Given the description of an element on the screen output the (x, y) to click on. 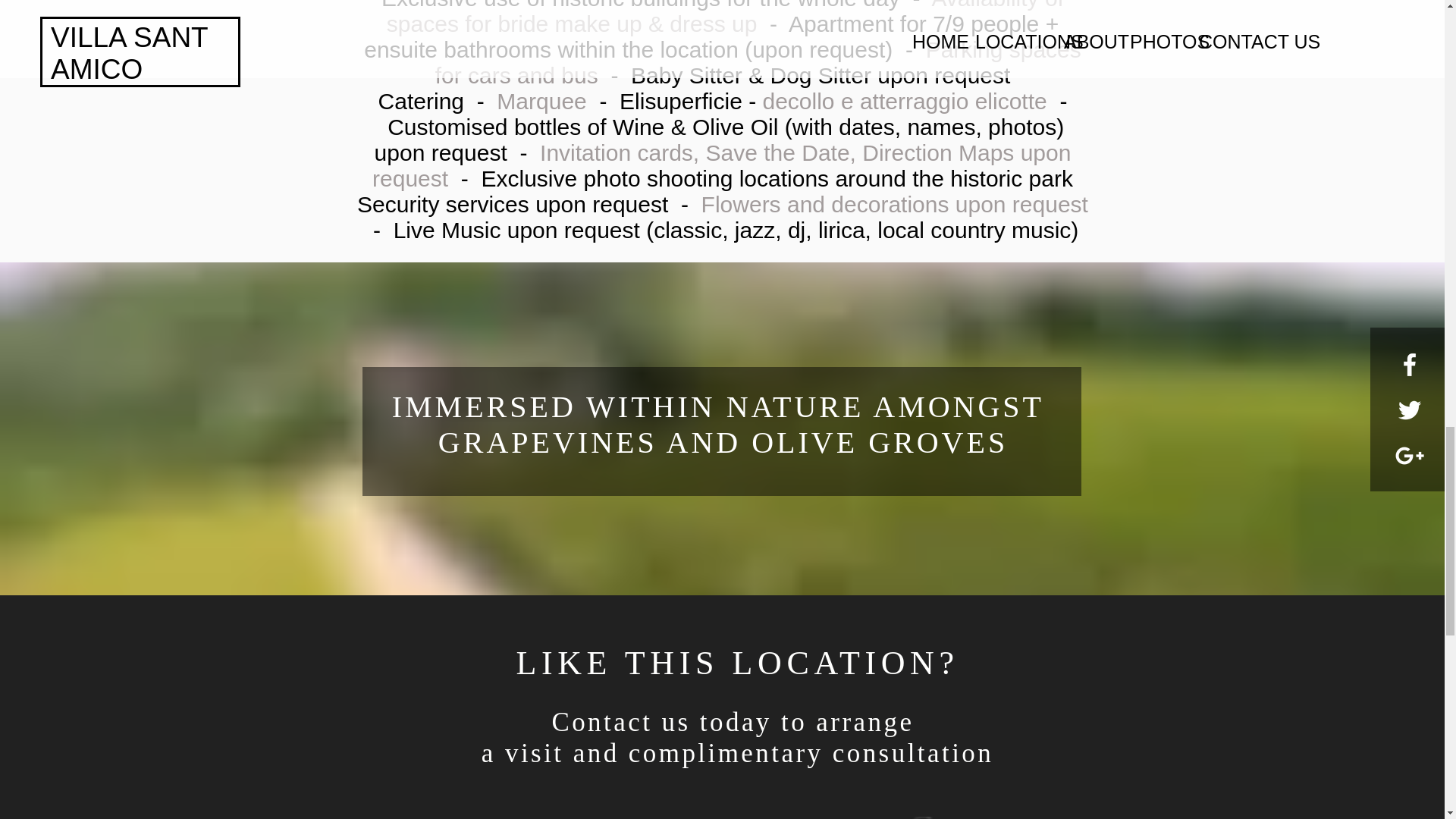
facebook.png (920, 817)
